Given the description of an element on the screen output the (x, y) to click on. 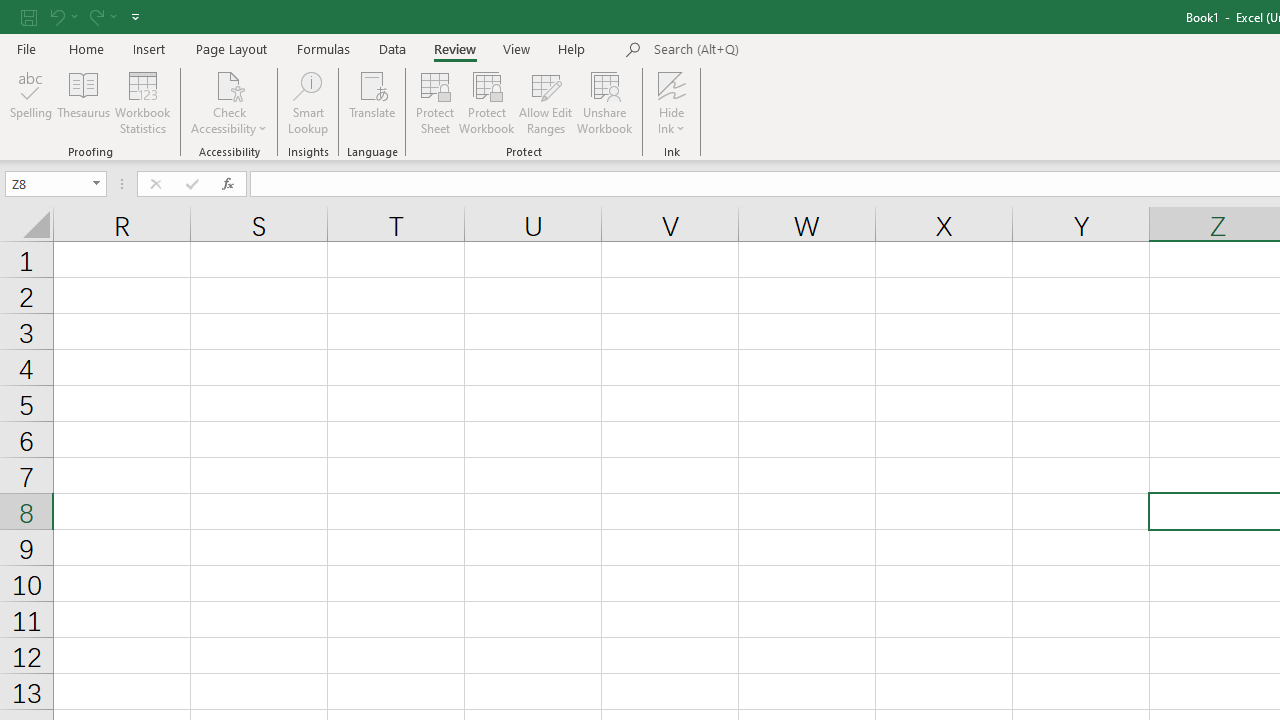
Protect Workbook... (486, 102)
Spelling... (31, 102)
Unshare Workbook (604, 102)
Translate (372, 102)
Thesaurus... (83, 102)
